Given the description of an element on the screen output the (x, y) to click on. 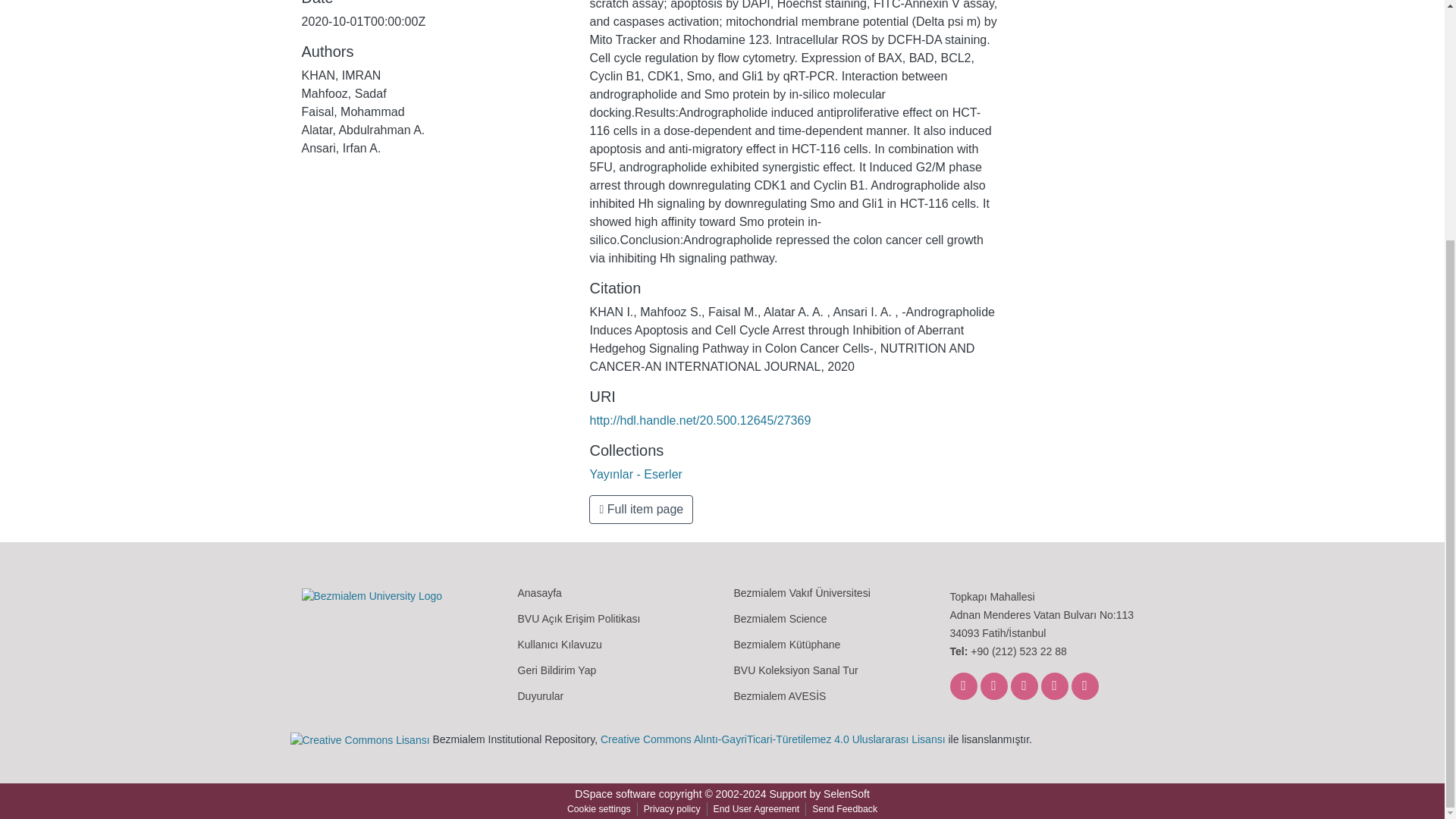
Geri Bildirim Yap (555, 670)
Duyurular (539, 696)
BVU Koleksiyon Sanal Tur (796, 670)
Bezmialem Science (780, 618)
Full item page (641, 509)
Anasayfa (538, 593)
